Given the description of an element on the screen output the (x, y) to click on. 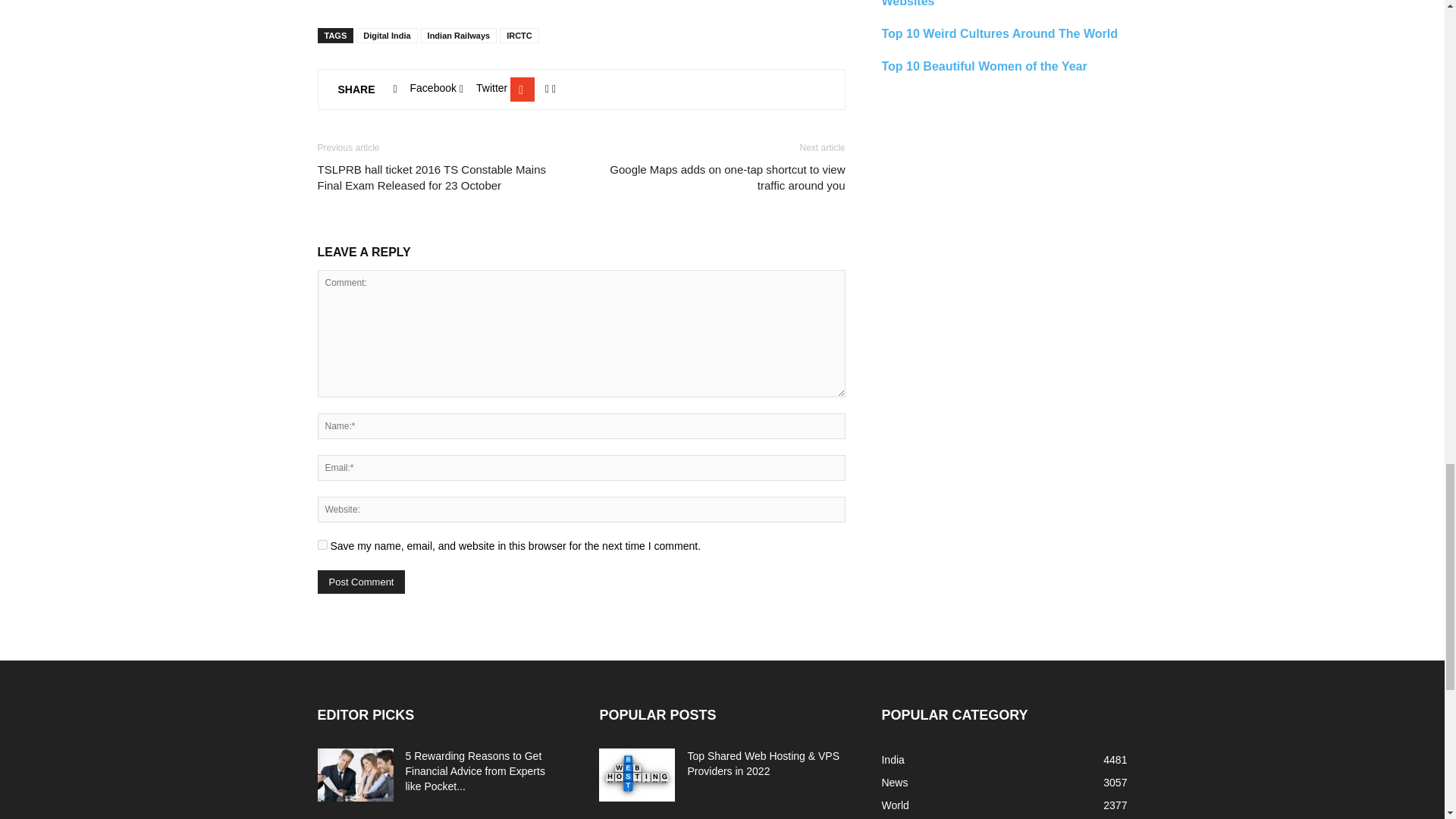
Post Comment (360, 581)
yes (321, 544)
